Given the description of an element on the screen output the (x, y) to click on. 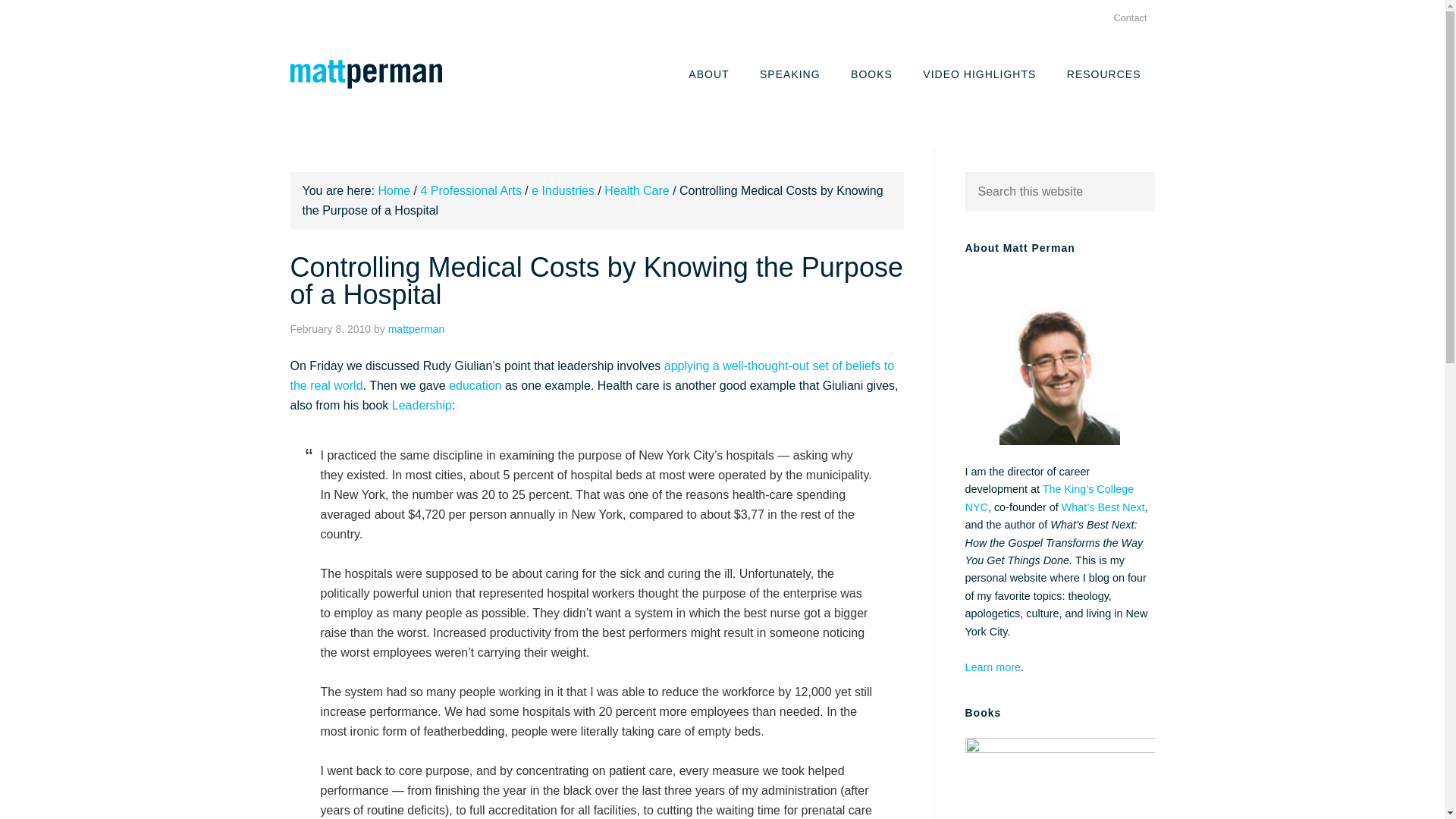
Learn more (991, 666)
Health Care (636, 190)
Contact (1130, 18)
e Industries (562, 190)
Home (393, 190)
RESOURCES (1103, 73)
mattperman (416, 328)
